Given the description of an element on the screen output the (x, y) to click on. 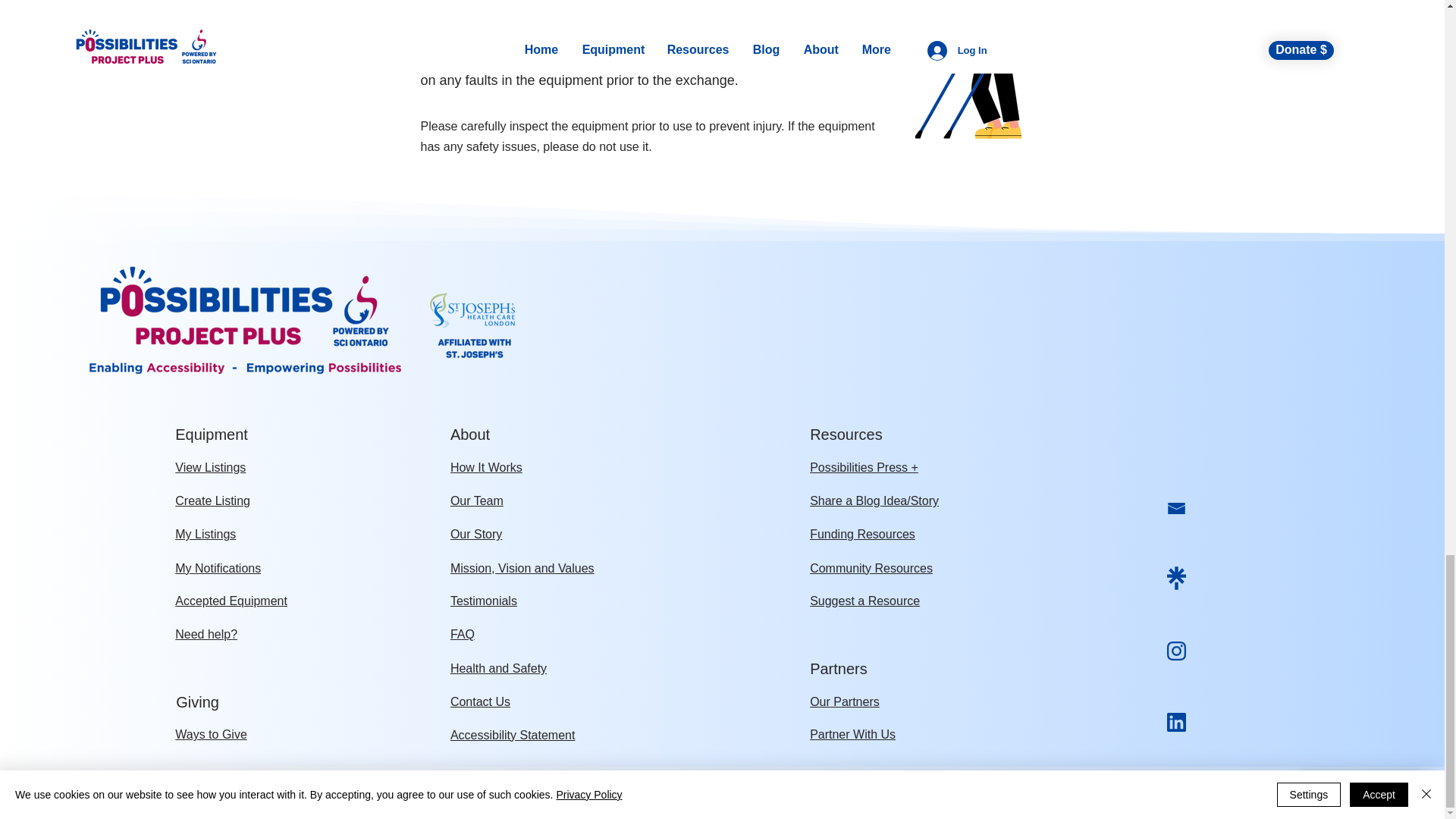
FAQ (461, 634)
Health and Safety (498, 667)
Our Team (476, 500)
How It Works (485, 467)
My Listings (204, 533)
Need help? (205, 634)
My Notifications (217, 567)
Our Story (475, 533)
Ways to Give (210, 734)
Testimonials (482, 600)
